Given the description of an element on the screen output the (x, y) to click on. 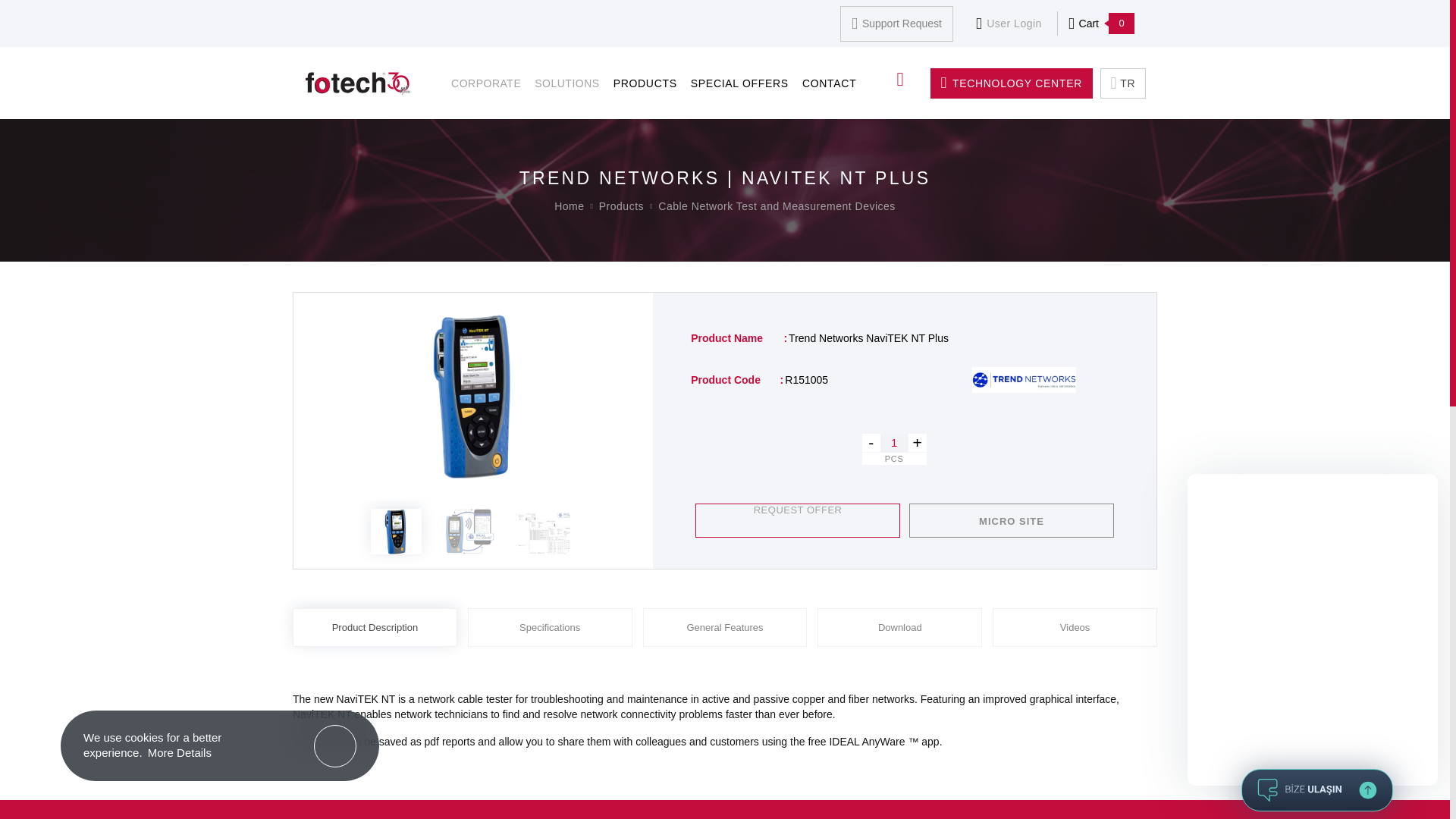
More Details (179, 751)
1 (893, 443)
Got it! (335, 745)
